Given the description of an element on the screen output the (x, y) to click on. 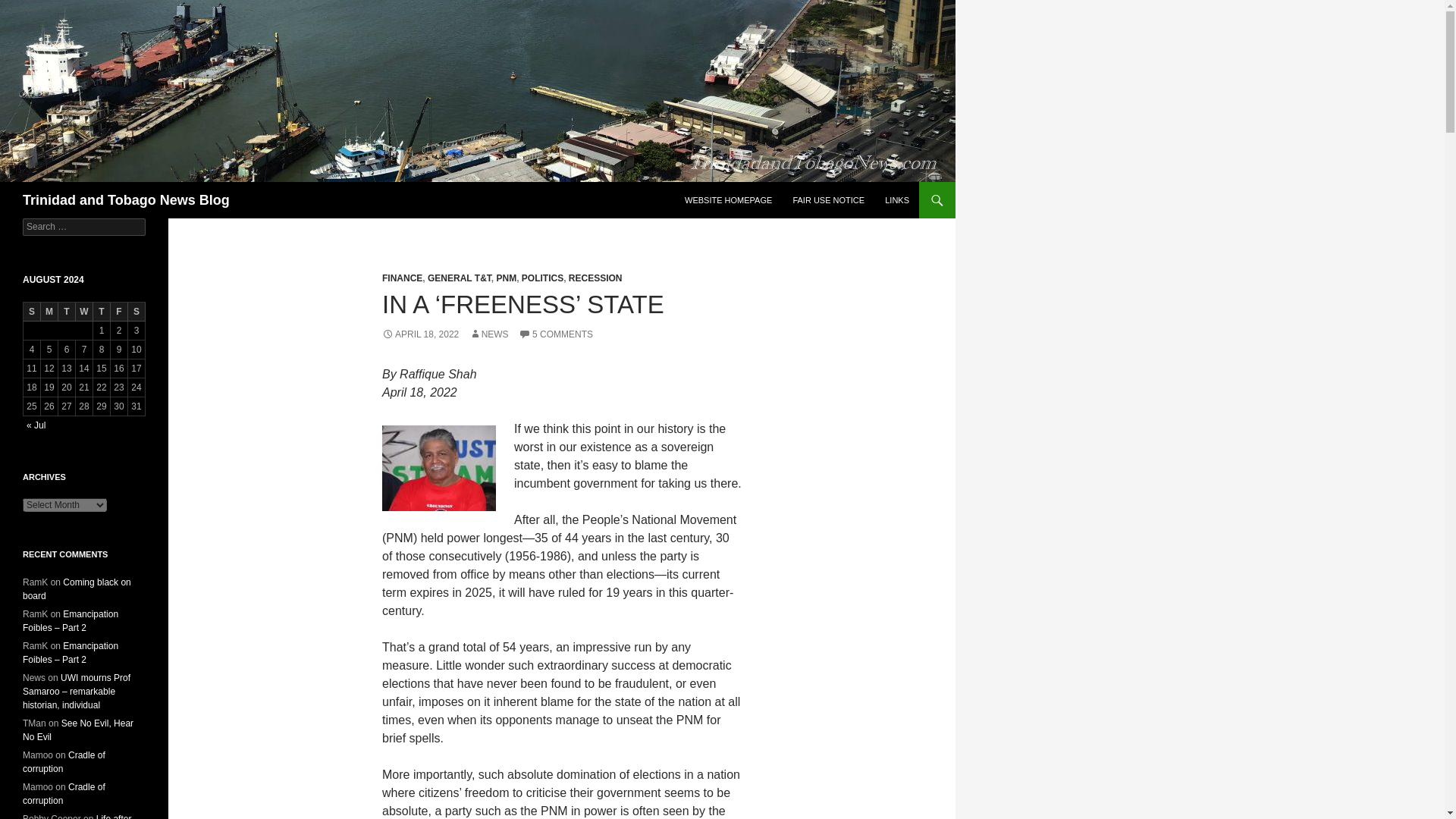
Cradle of corruption (63, 793)
Trinidad and Tobago News Blog (126, 199)
RECESSION (596, 277)
Tuesday (66, 311)
Search (30, 8)
LINKS (897, 199)
FAIR USE NOTICE (828, 199)
Friday (119, 311)
PNM (506, 277)
NEWS (488, 334)
Wednesday (84, 311)
Coming black on board (77, 589)
5 COMMENTS (555, 334)
Monday (49, 311)
